Given the description of an element on the screen output the (x, y) to click on. 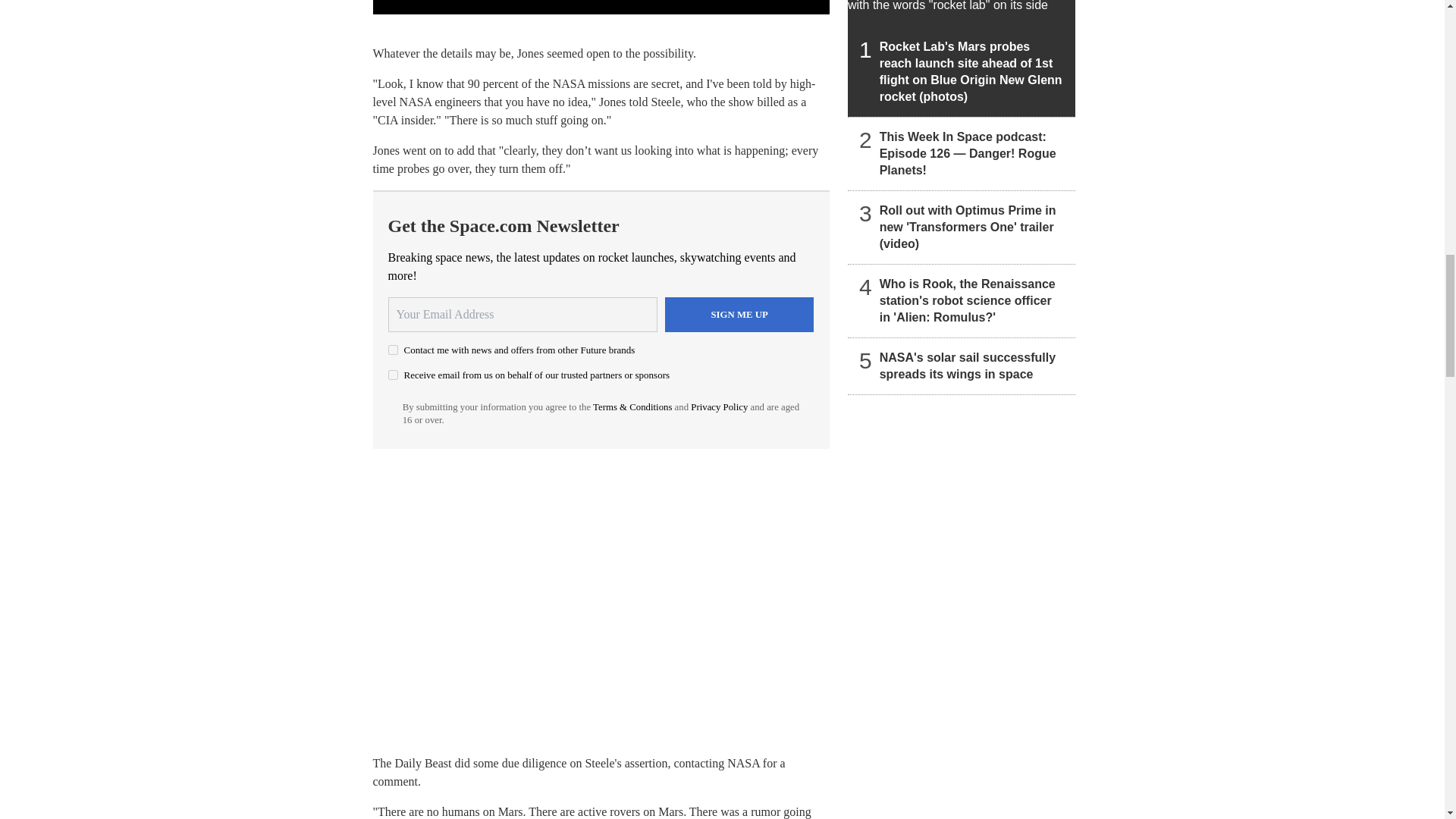
on (392, 349)
Sign me up (739, 314)
on (392, 375)
